Given the description of an element on the screen output the (x, y) to click on. 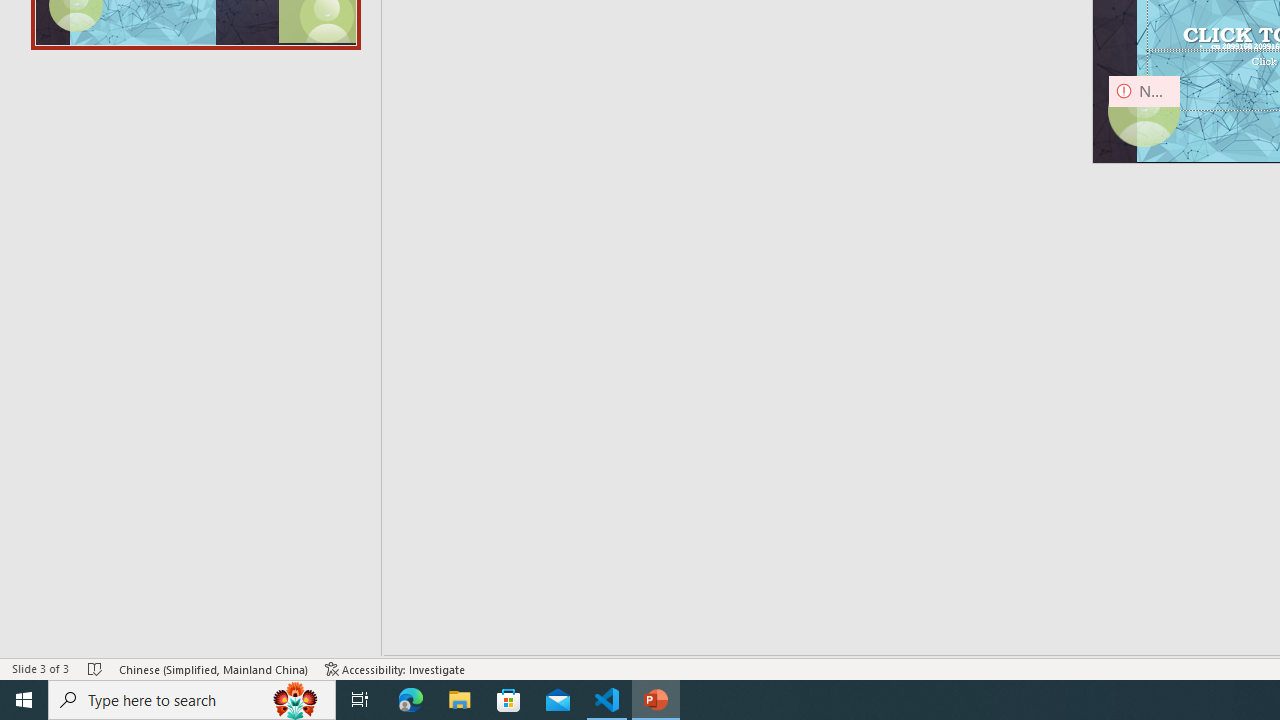
Camera 9, No camera detected. (1144, 111)
